Given the description of an element on the screen output the (x, y) to click on. 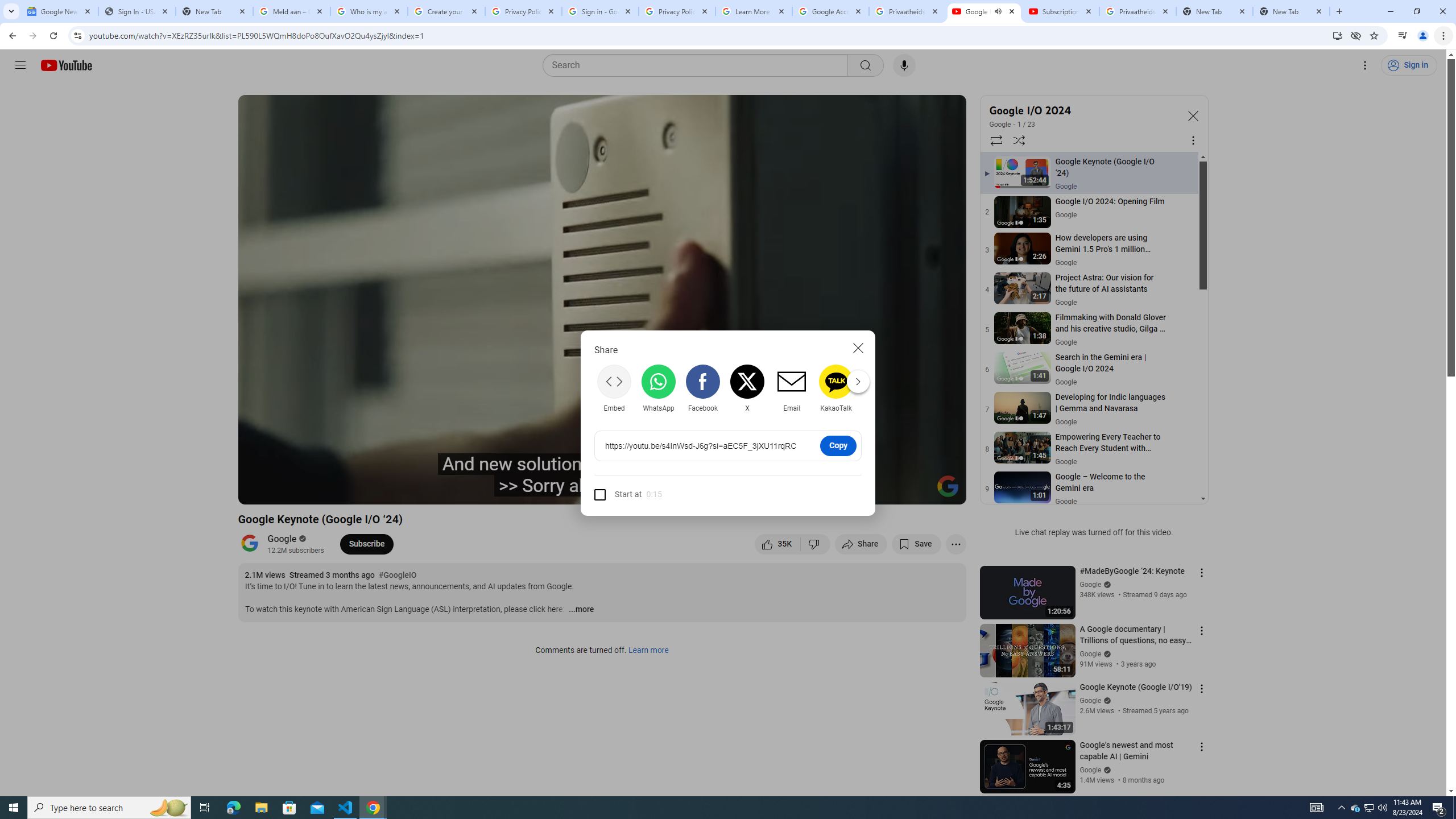
Action menu (1200, 746)
WhatsApp (658, 388)
Loop playlist (995, 140)
Who is my administrator? - Google Account Help (368, 11)
Share (861, 543)
Subtitles/closed captions unavailable (836, 490)
Search with your voice (903, 65)
Opening Film (434, 490)
Facebook (702, 387)
